Given the description of an element on the screen output the (x, y) to click on. 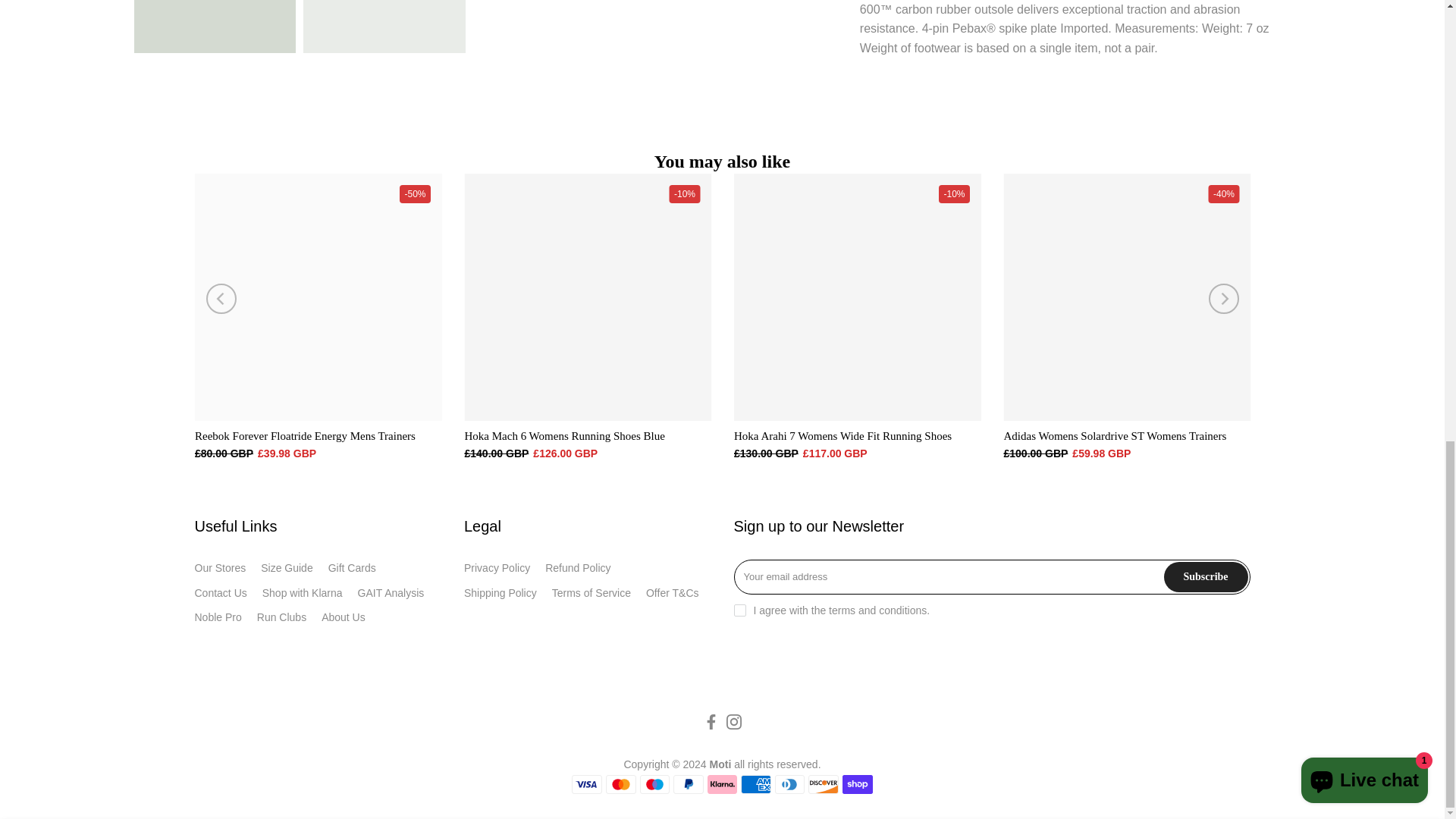
Reebok Forever Floatride Energy Mens Trainers (303, 435)
Hoka Mach 6 Womens Running Shoes Blue (563, 435)
Hoka Arahi 7 Womens Wide Fit Running Shoes (842, 435)
